Given the description of an element on the screen output the (x, y) to click on. 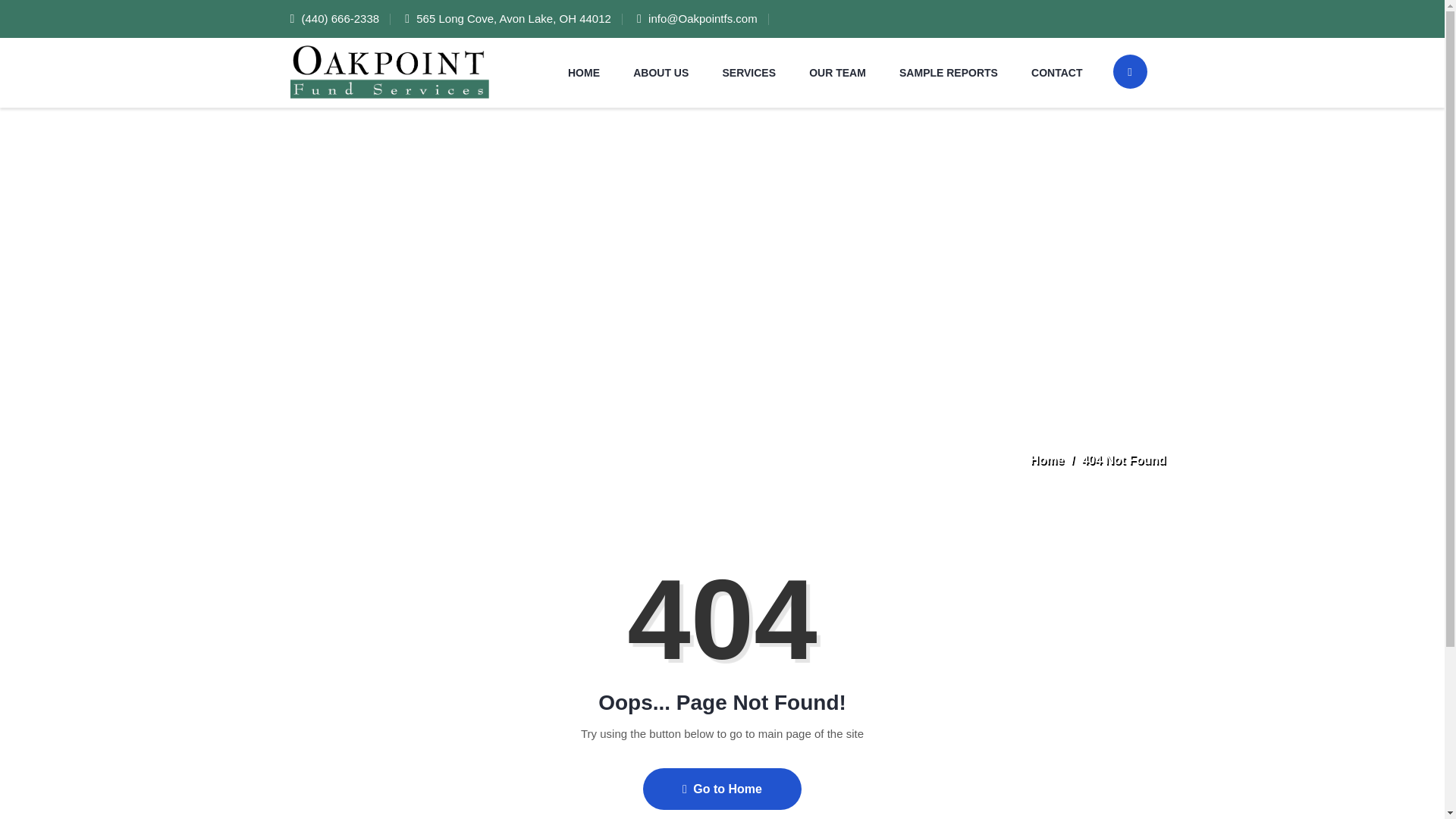
CONTACT (1056, 72)
Home (1047, 459)
SERVICES (748, 72)
SAMPLE REPORTS (948, 72)
  Go to Home (722, 788)
OUR TEAM (837, 72)
ABOUT US (660, 72)
